Given the description of an element on the screen output the (x, y) to click on. 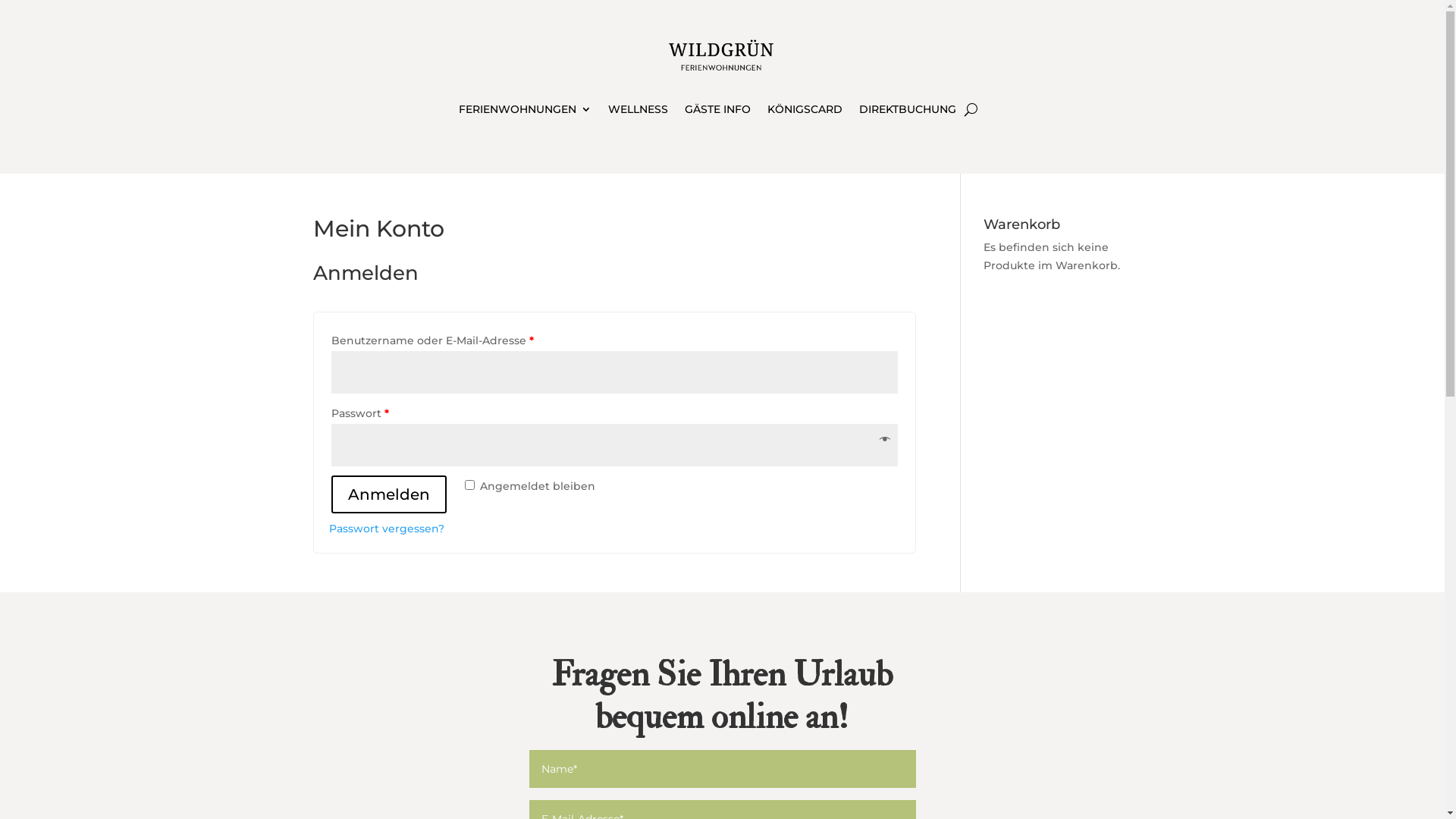
Anmelden Element type: text (387, 494)
DIREKTBUCHUNG Element type: text (907, 111)
WELLNESS Element type: text (638, 111)
FERIENWOHNUNGEN Element type: text (524, 111)
logo_wildgruen_22 Element type: hover (721, 55)
Passwort vergessen? Element type: text (386, 528)
